Given the description of an element on the screen output the (x, y) to click on. 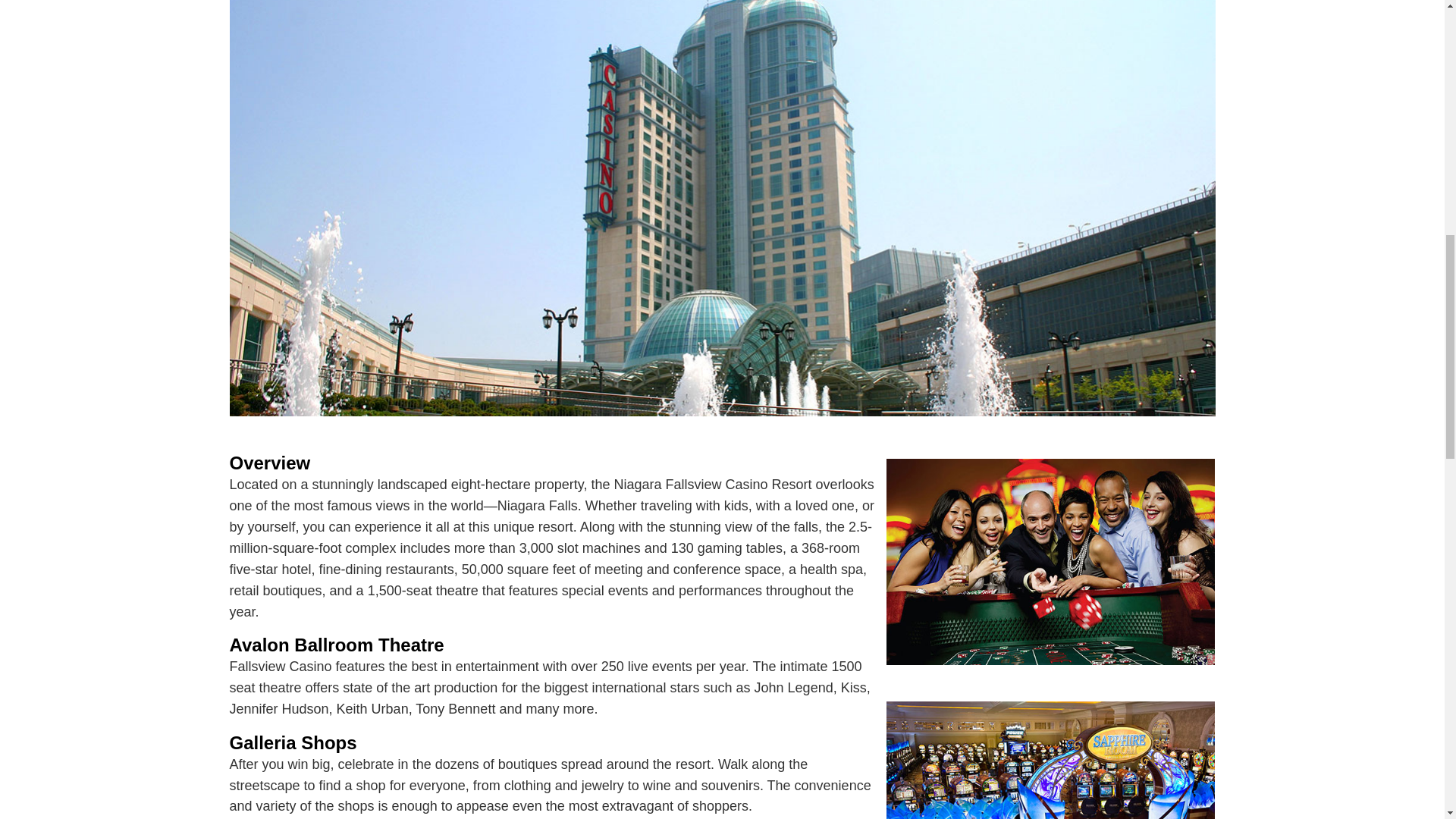
Fallsview Casino - Hotels in Niagara Falls (1050, 561)
Fallsview Casino - Hotels in Niagara Falls (1050, 751)
